Given the description of an element on the screen output the (x, y) to click on. 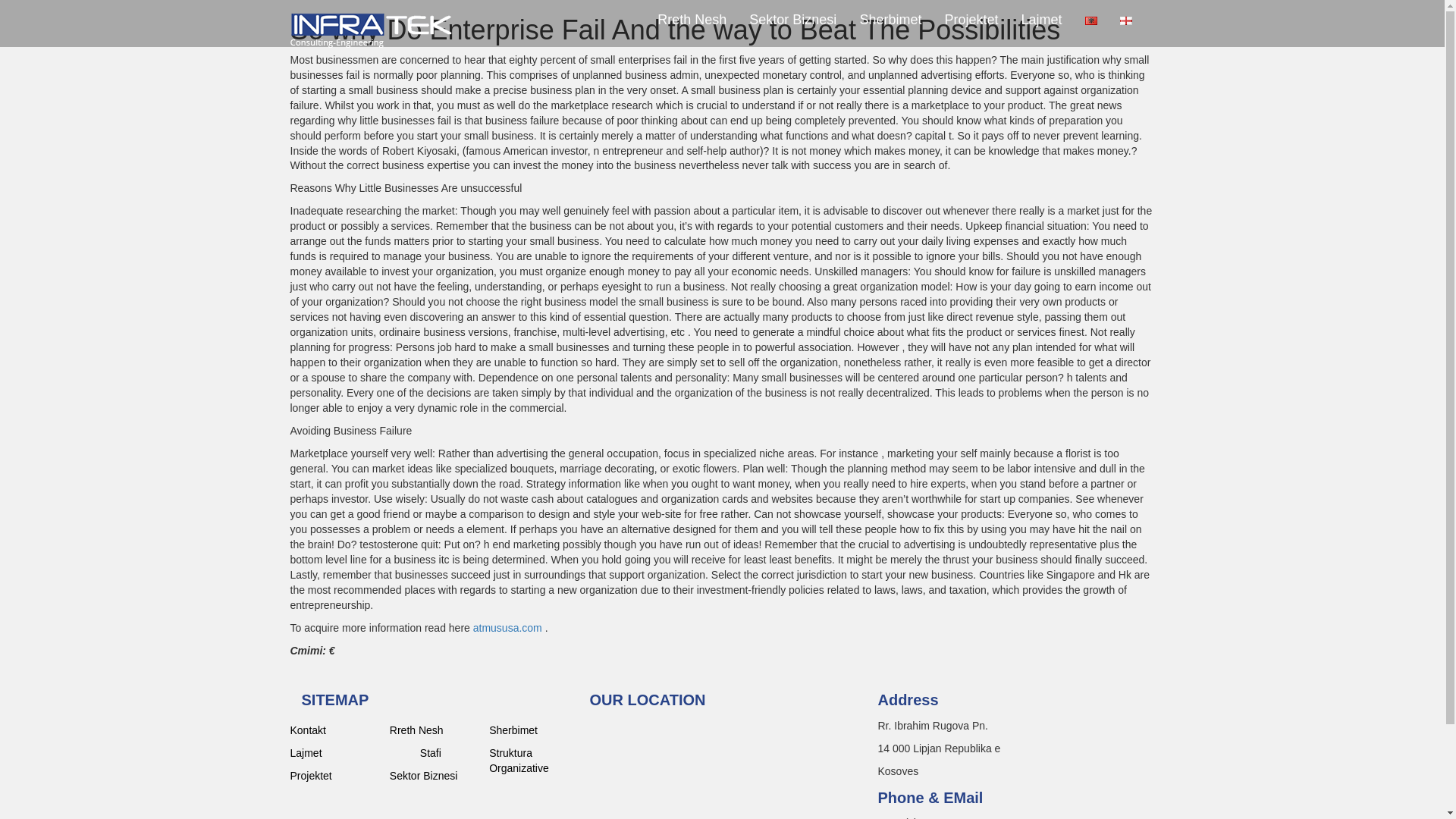
Projektet (971, 19)
Shqip (1090, 20)
Projektet (333, 775)
Sektor Biznesi (434, 775)
Lajmet (333, 752)
Struktura Organizative (533, 760)
Rreth Nesh (692, 19)
Stafi (449, 752)
Sherbimet (890, 19)
Kontakt (333, 729)
Rreth Nesh (434, 729)
Lajmet (1041, 19)
English (1125, 20)
Sherbimet (533, 729)
Sektor Biznesi (792, 19)
